Given the description of an element on the screen output the (x, y) to click on. 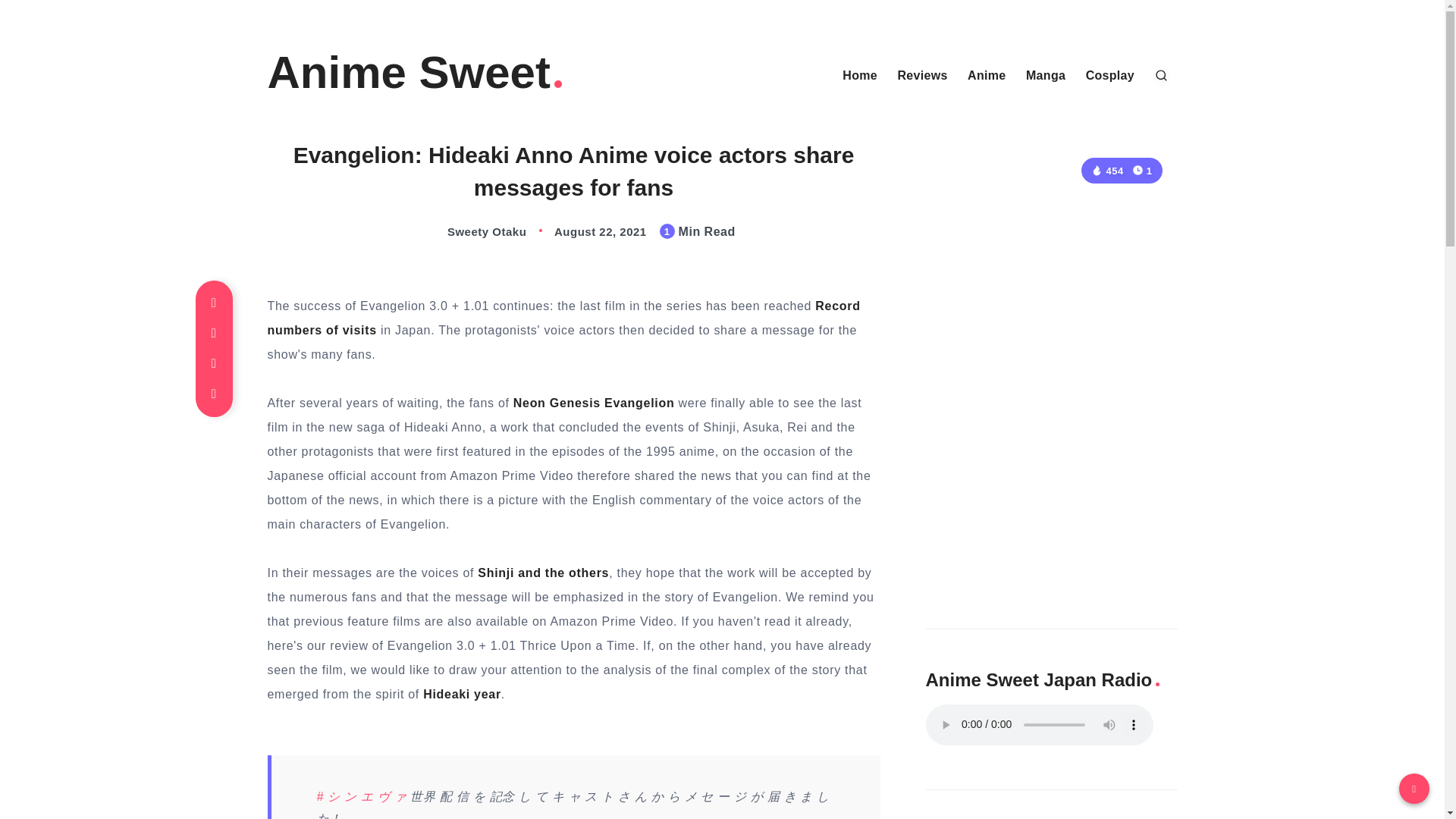
Manga (1045, 75)
Anime (987, 75)
Reviews (921, 75)
1 Min Read (1142, 170)
Sweety Otaku (470, 231)
Anime Sweet (415, 72)
Home (860, 75)
454 Views (1106, 170)
Cosplay (1110, 75)
Author: Sweety Otaku (470, 231)
